Given the description of an element on the screen output the (x, y) to click on. 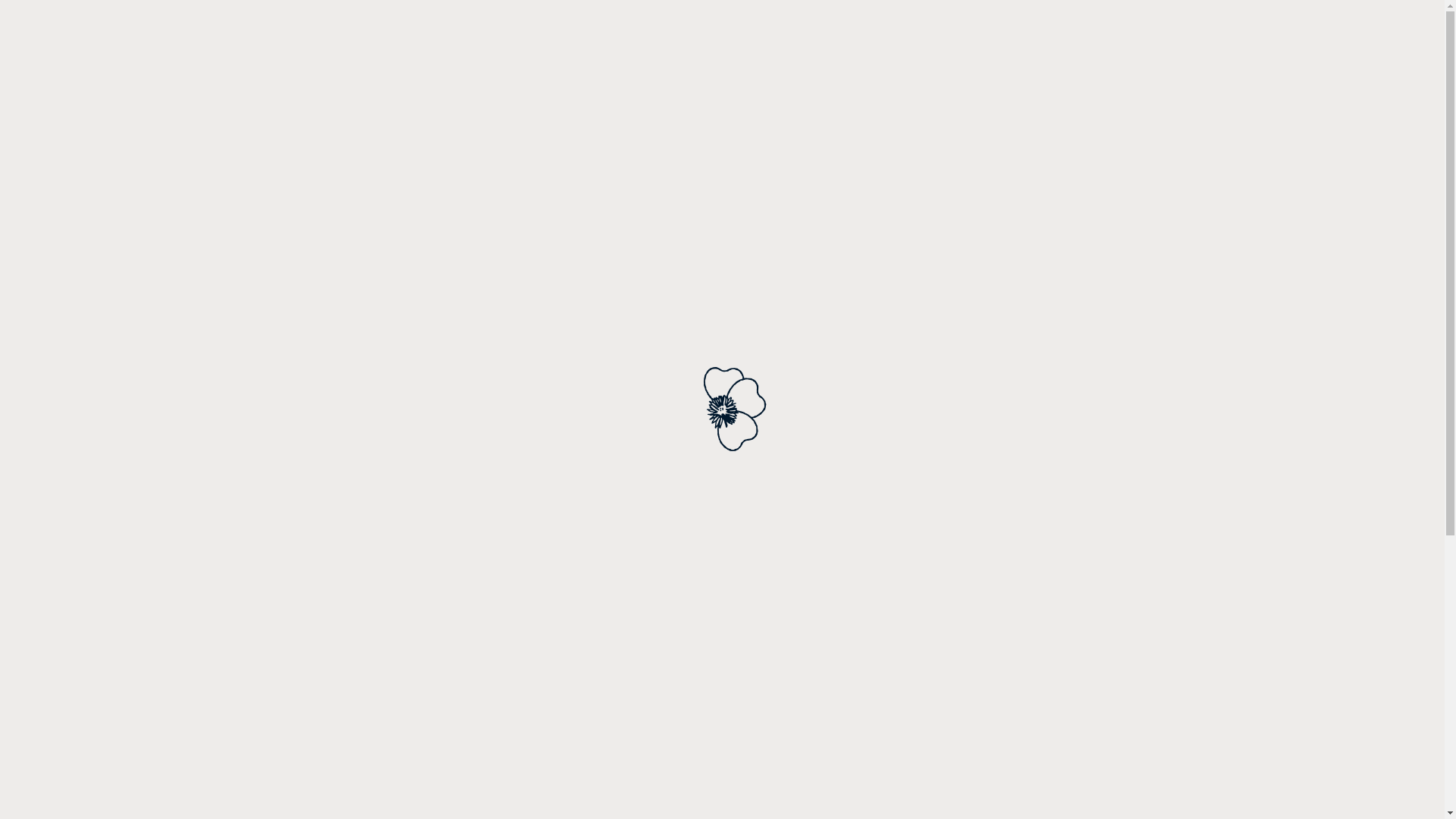
JOIN NOW Element type: text (954, 659)
